Given the description of an element on the screen output the (x, y) to click on. 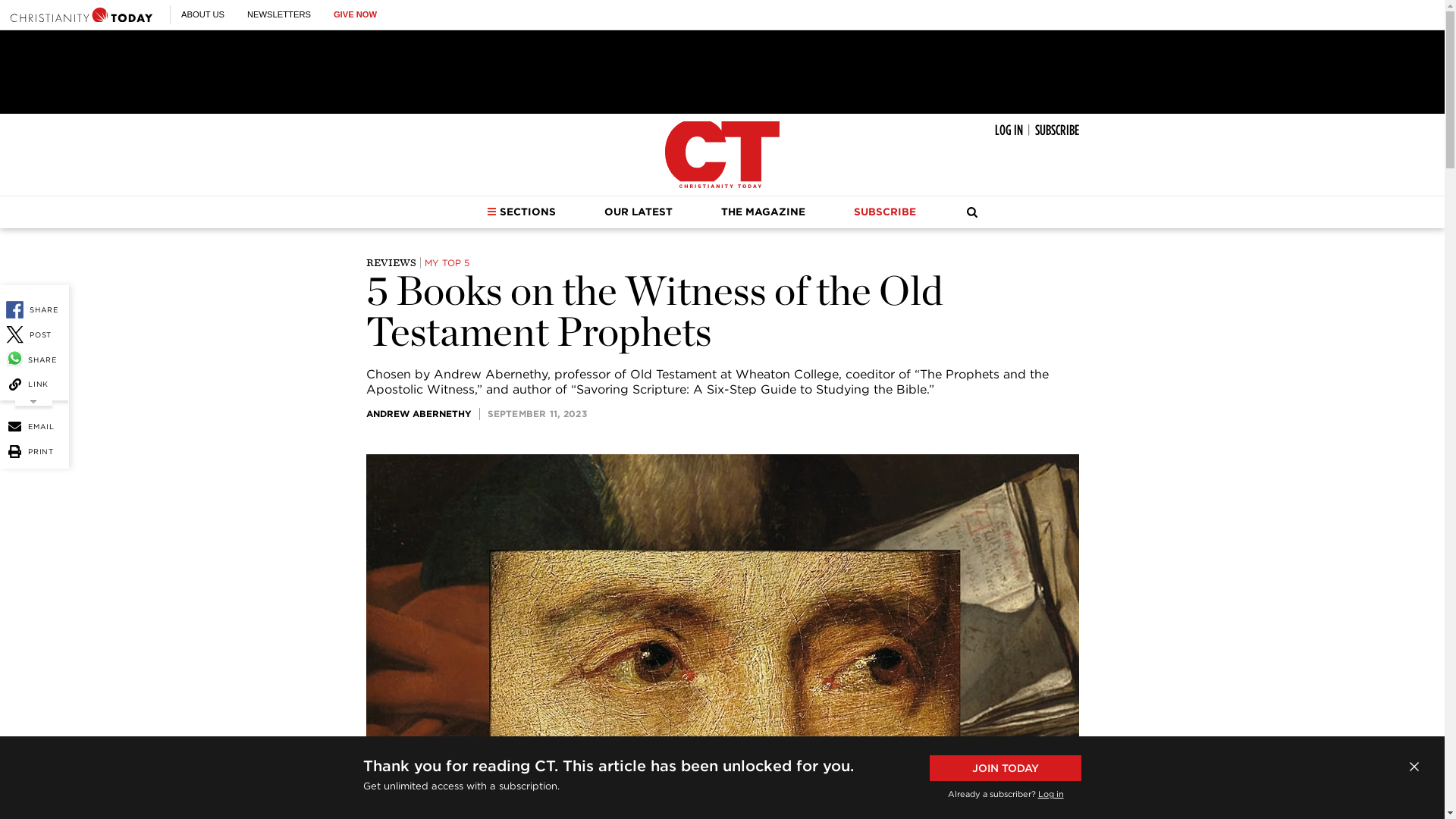
ABOUT US (202, 14)
GIVE NOW (355, 14)
SECTIONS (521, 212)
3rd party ad content (721, 71)
Sections Dropdown (491, 211)
Christianity Today (721, 154)
SUBSCRIBE (1055, 130)
NEWSLETTERS (278, 14)
Christianity Today (81, 14)
LOG IN (1008, 130)
